Given the description of an element on the screen output the (x, y) to click on. 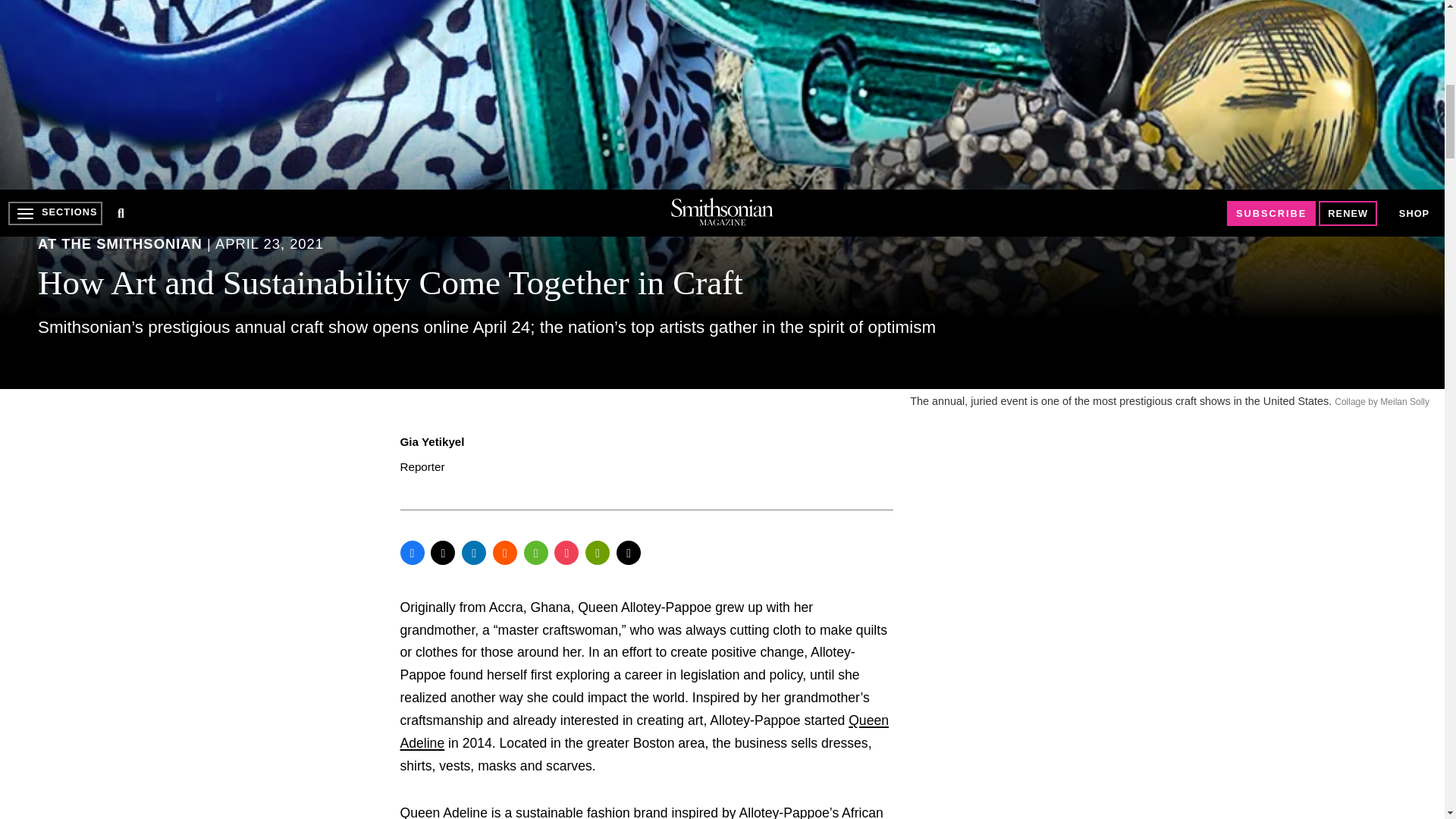
Print (597, 552)
Email (627, 552)
WhatsApp (536, 552)
Pocket (566, 552)
Facebook (412, 552)
Twitter (442, 552)
LinkedIn (473, 552)
Reddit (504, 552)
